Given the description of an element on the screen output the (x, y) to click on. 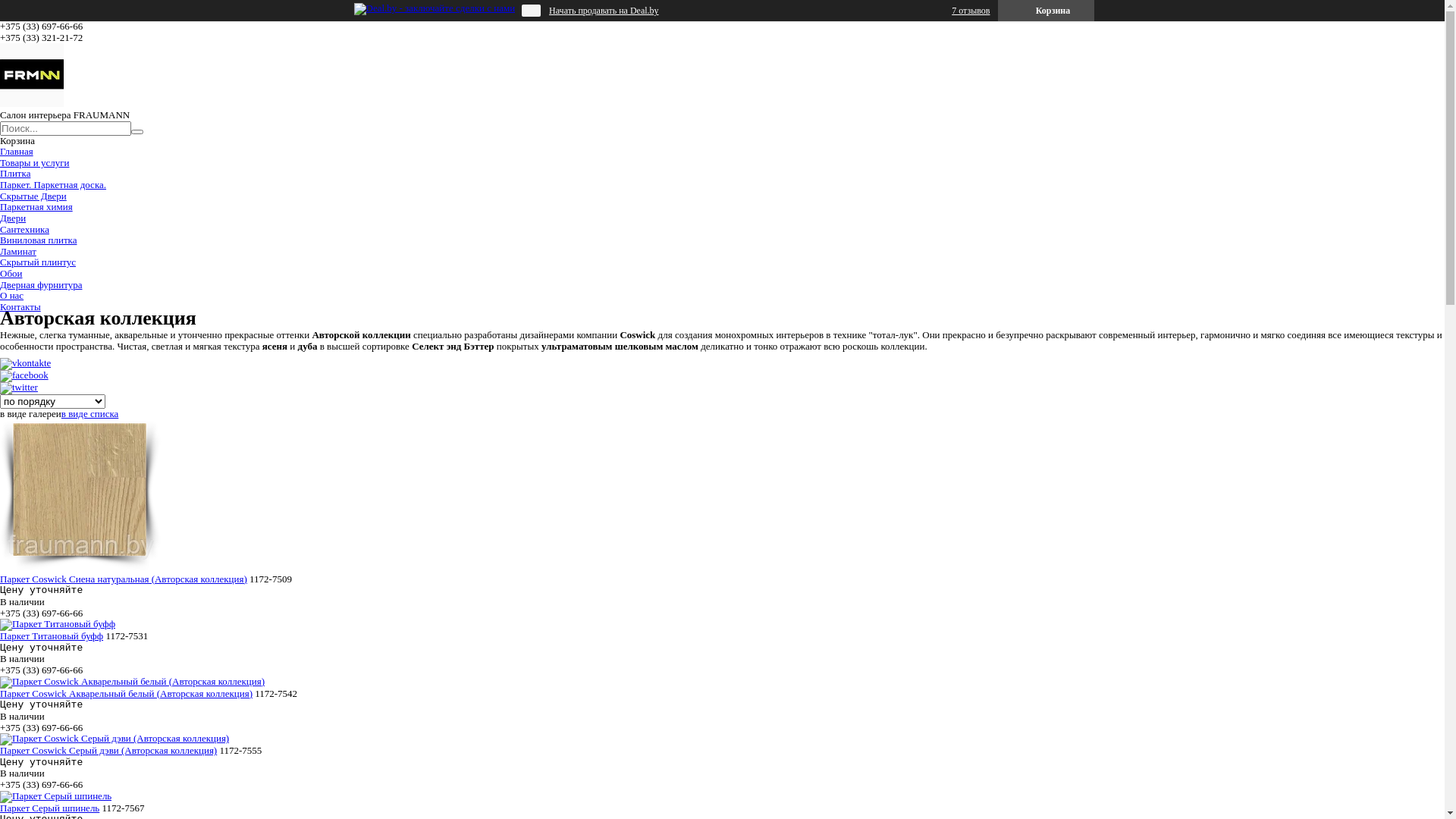
twitter Element type: hover (18, 386)
facebook Element type: hover (24, 374)
